Given the description of an element on the screen output the (x, y) to click on. 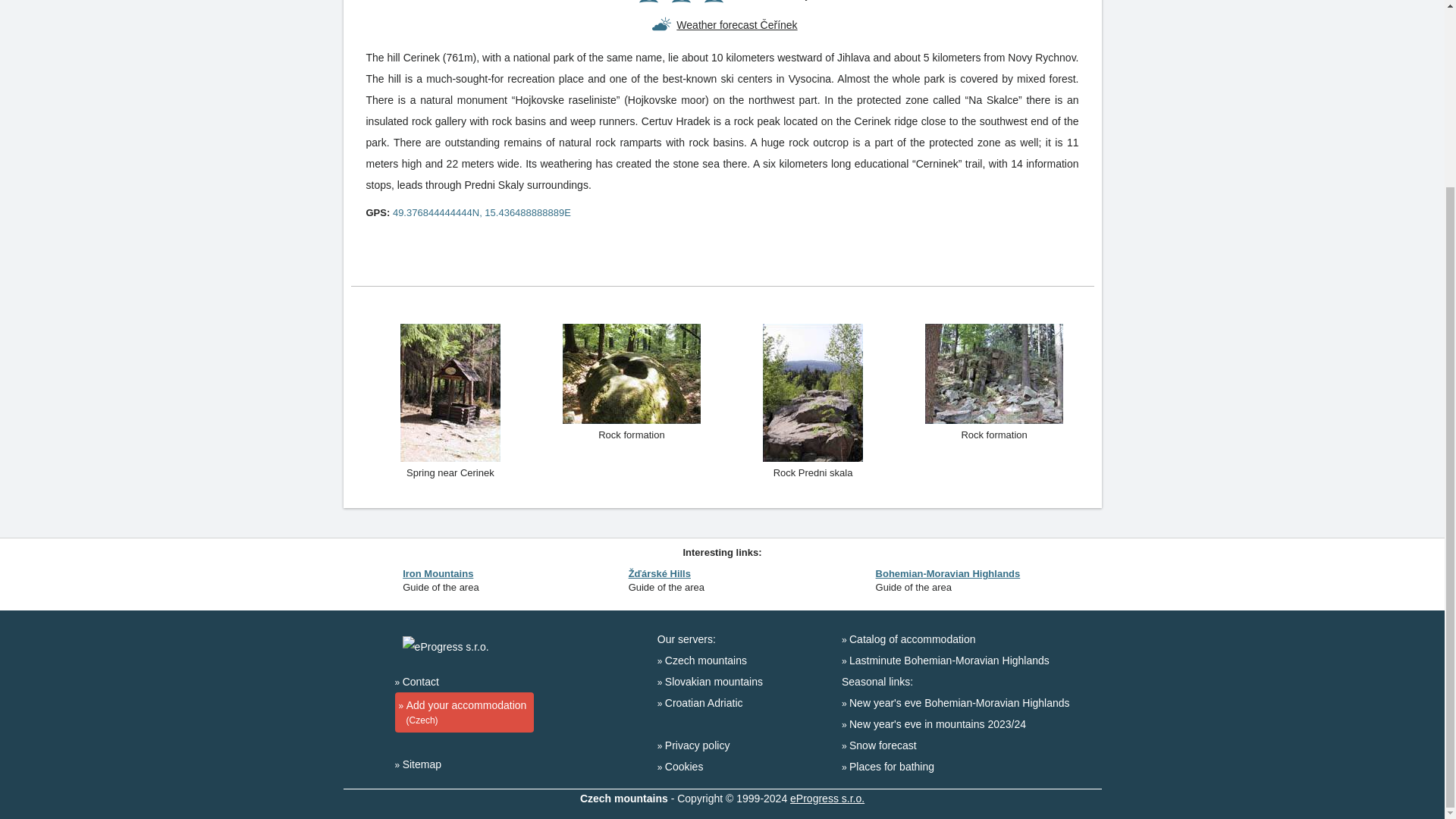
49.376844444444N, 15.436488888889E (481, 212)
